Given the description of an element on the screen output the (x, y) to click on. 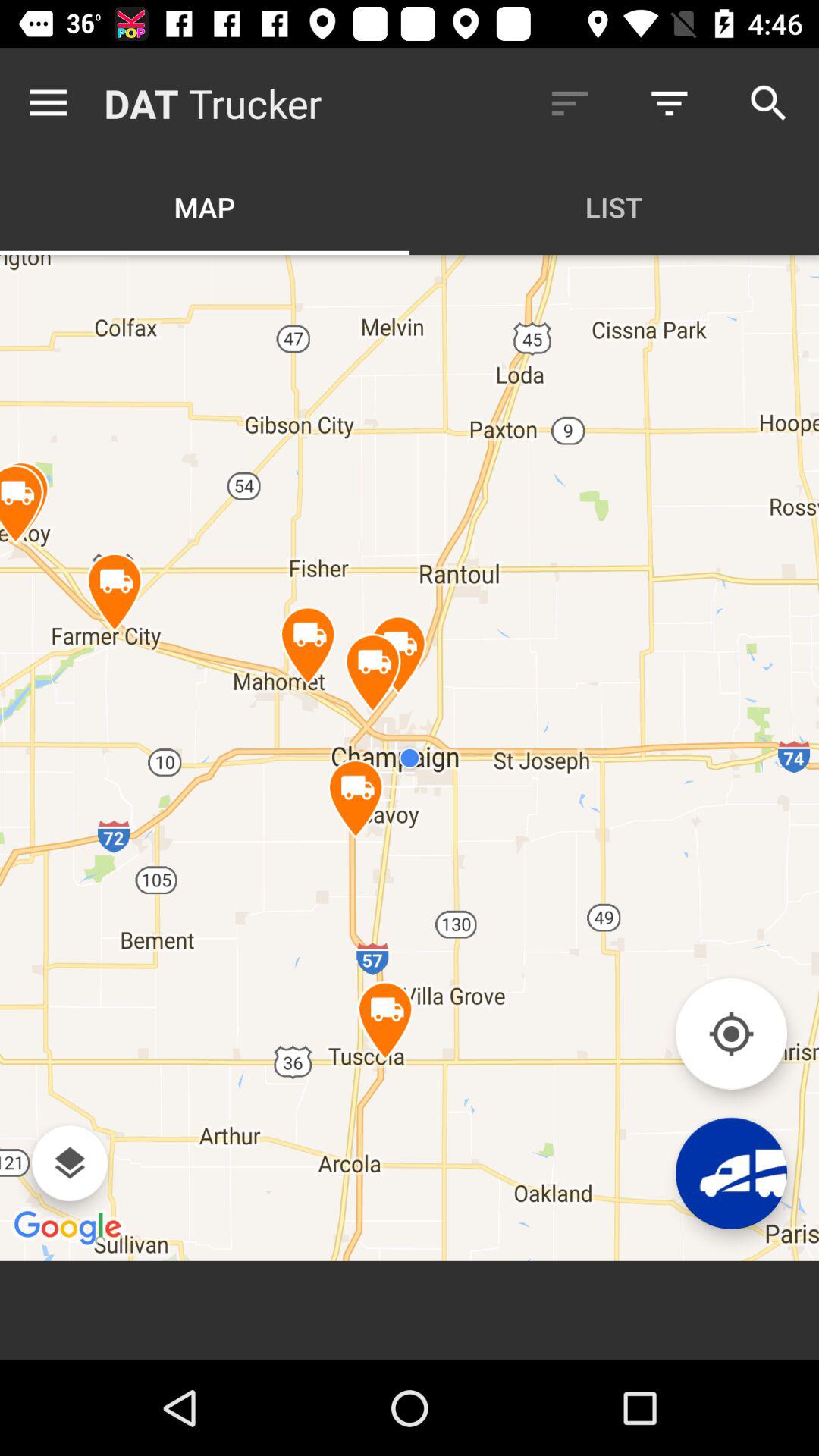
click icon to the right of the trucker (569, 103)
